Given the description of an element on the screen output the (x, y) to click on. 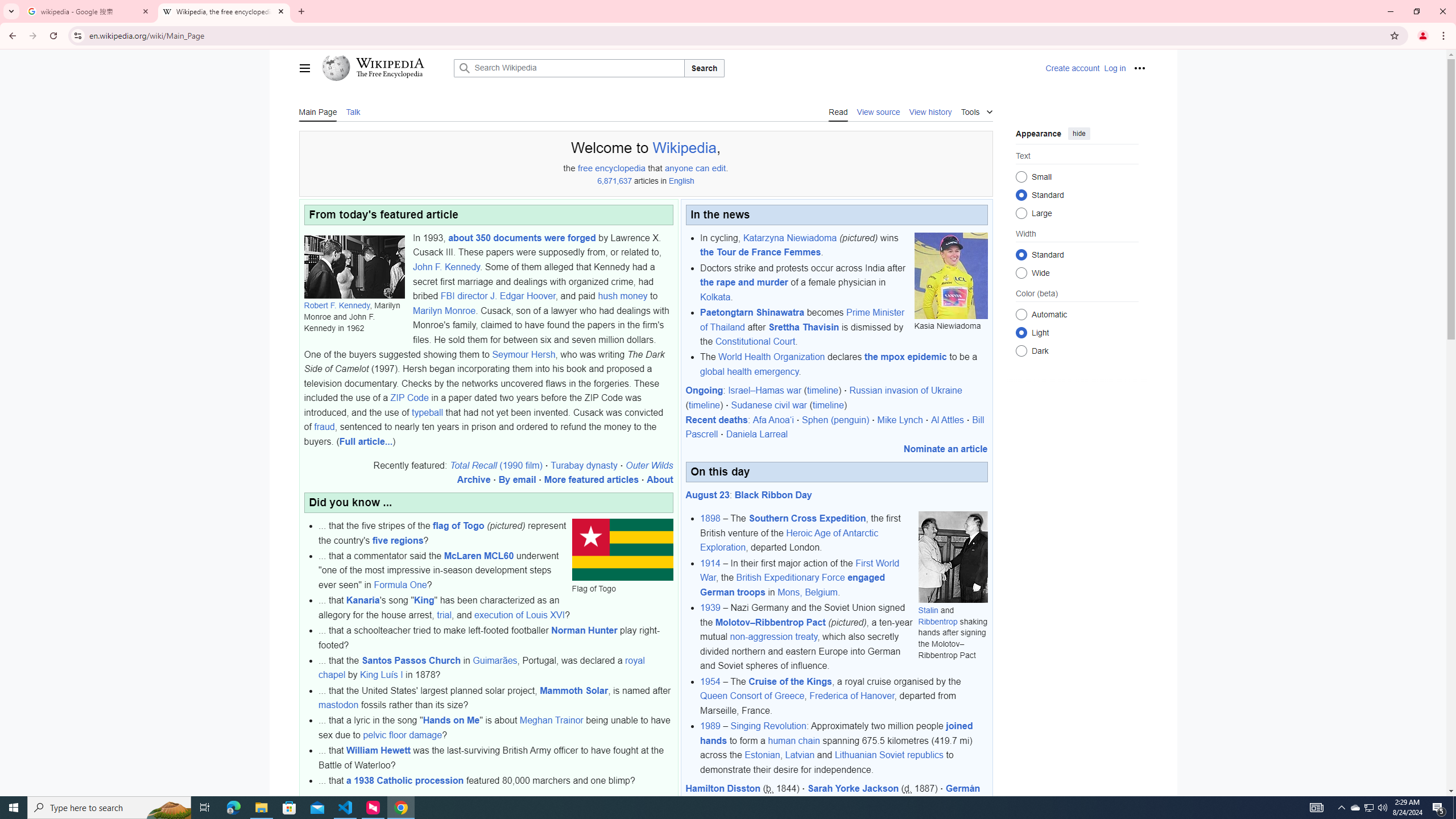
Personal tools (1139, 67)
global health emergency (749, 371)
Kanaria (363, 600)
Mammoth Solar (574, 690)
Singing Revolution (768, 725)
encyclopedia (620, 167)
World Health Organization (771, 356)
View history (930, 111)
joined hands (836, 732)
timeline (828, 405)
trial (443, 614)
Outer Wilds (649, 465)
Katarzyna Niewiadoma (789, 237)
